Given the description of an element on the screen output the (x, y) to click on. 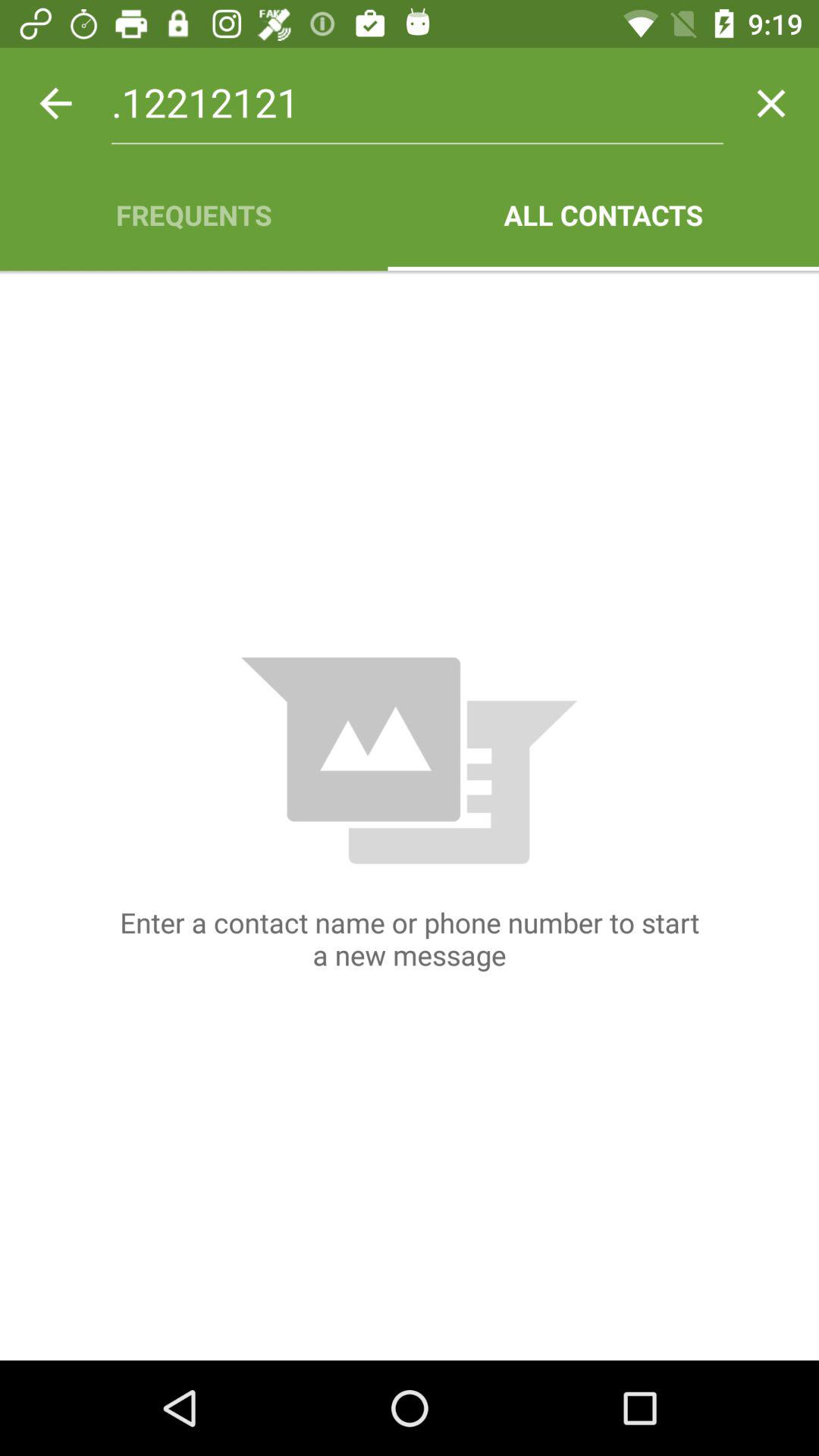
turn off the app above the all contacts icon (771, 103)
